Given the description of an element on the screen output the (x, y) to click on. 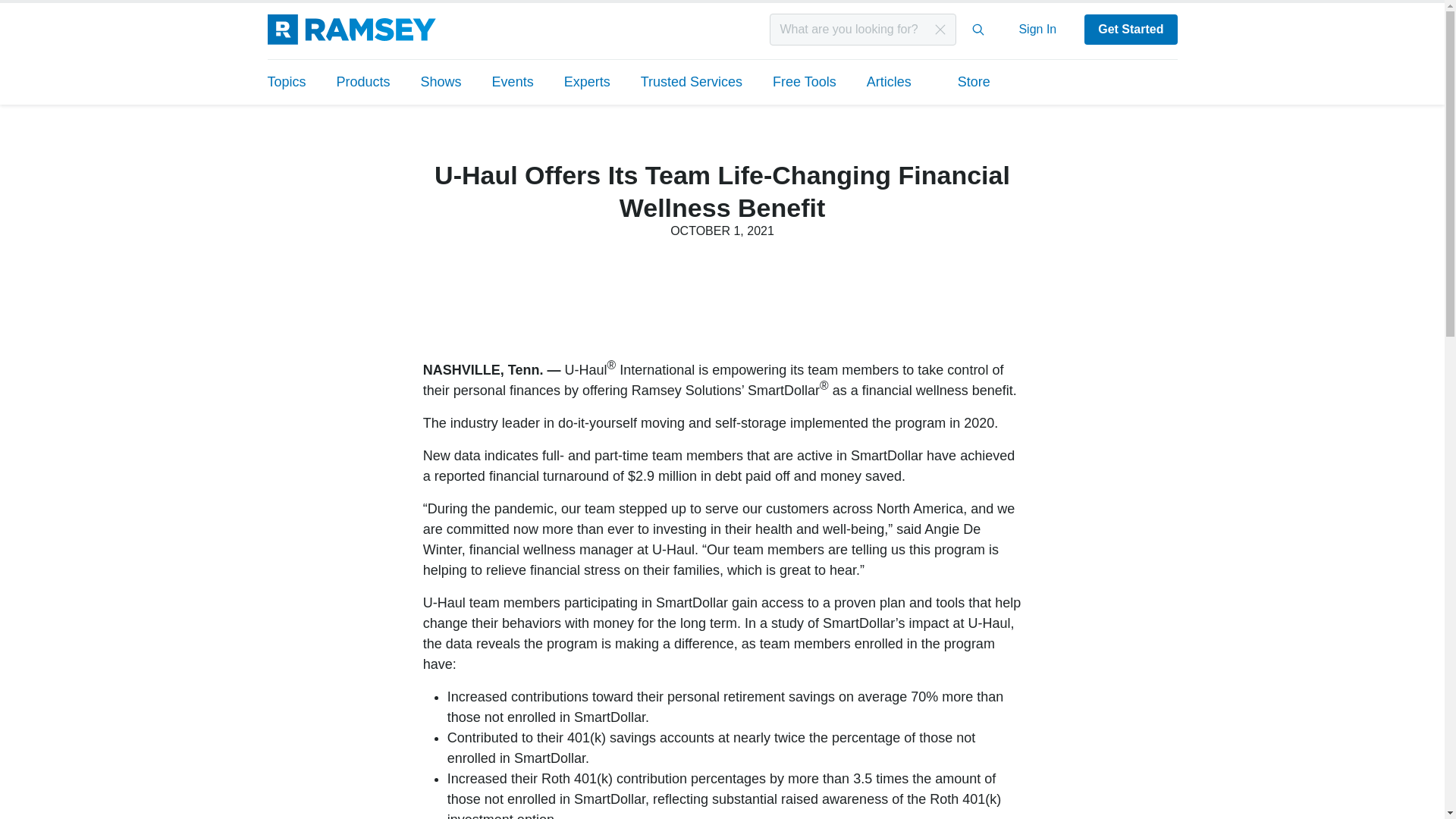
Sign In (1037, 29)
Products (363, 81)
Topics (293, 81)
Get Started (1130, 29)
Search (978, 29)
